Given the description of an element on the screen output the (x, y) to click on. 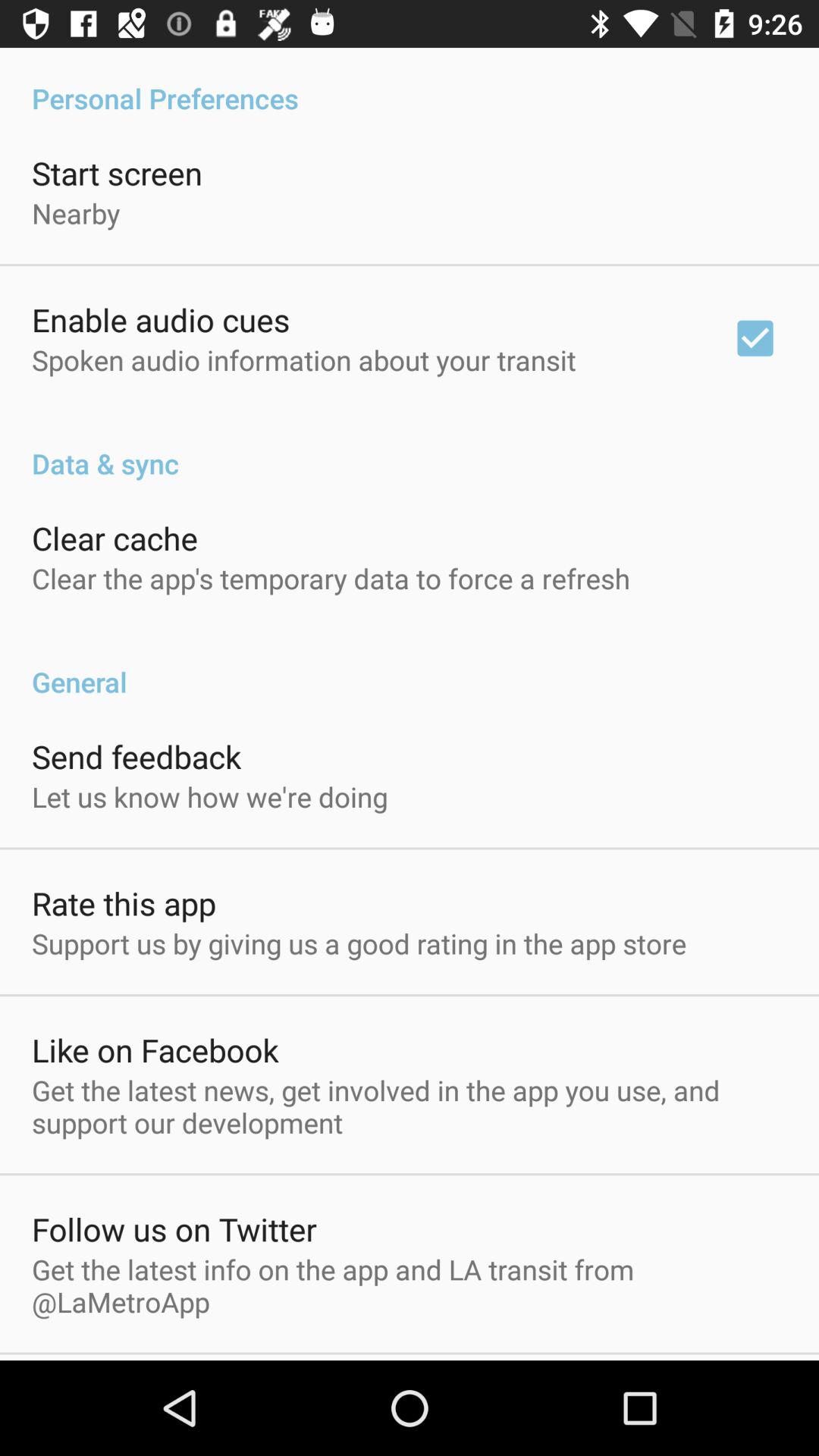
turn on the app above data & sync (755, 338)
